Given the description of an element on the screen output the (x, y) to click on. 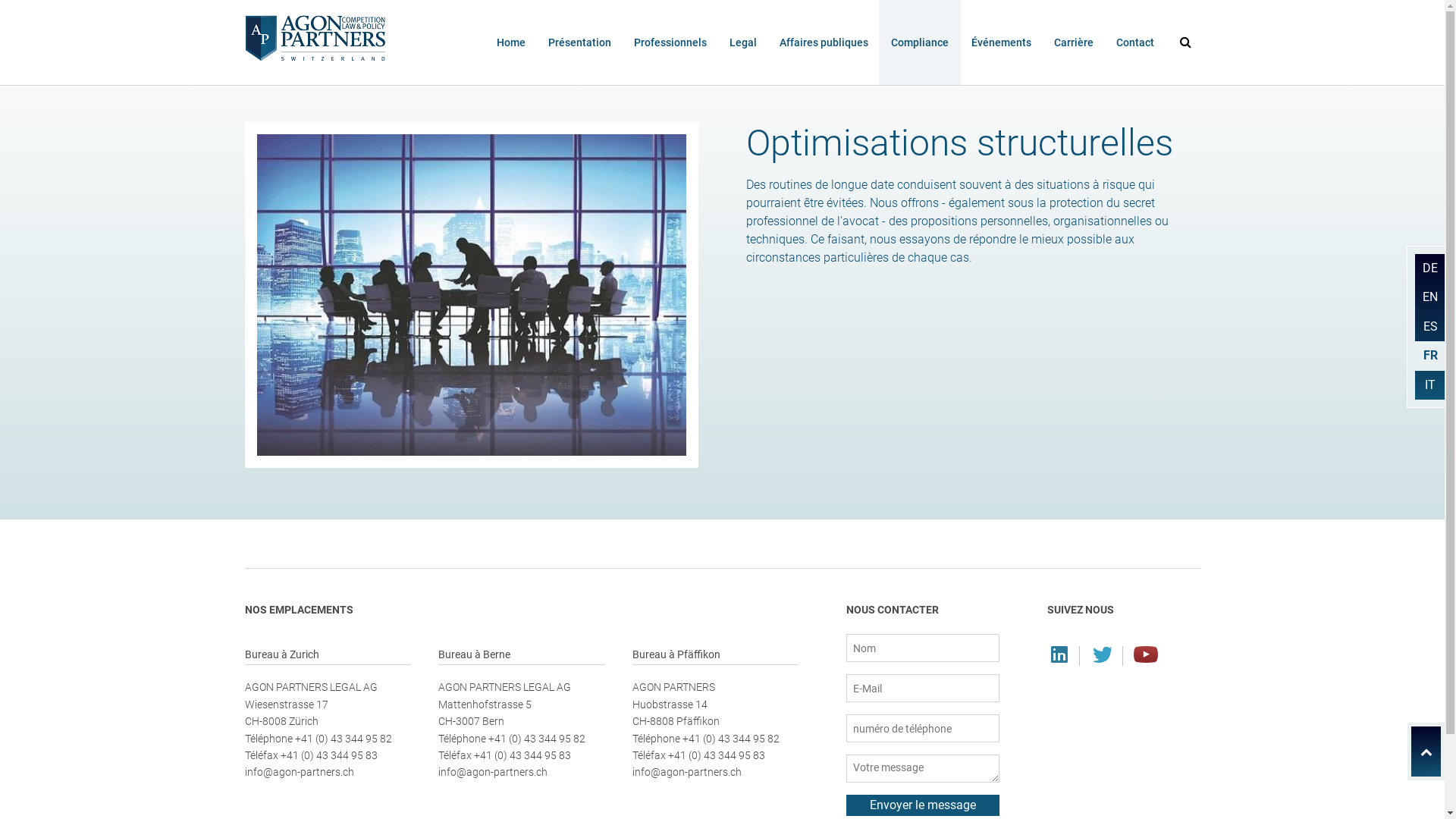
Compliance Element type: text (919, 42)
DE Element type: text (1430, 268)
info@agon-partners.ch Element type: text (686, 771)
IT Element type: text (1430, 384)
Envoyer le message Element type: text (922, 804)
EN Element type: text (1430, 296)
info@agon-partners.ch Element type: text (492, 771)
Home Element type: text (509, 42)
ES Element type: text (1430, 326)
Contact Element type: text (1135, 42)
Legal Element type: text (742, 42)
Affaires publiques Element type: text (823, 42)
Professionnels Element type: text (669, 42)
info@agon-partners.ch Element type: text (298, 771)
